Given the description of an element on the screen output the (x, y) to click on. 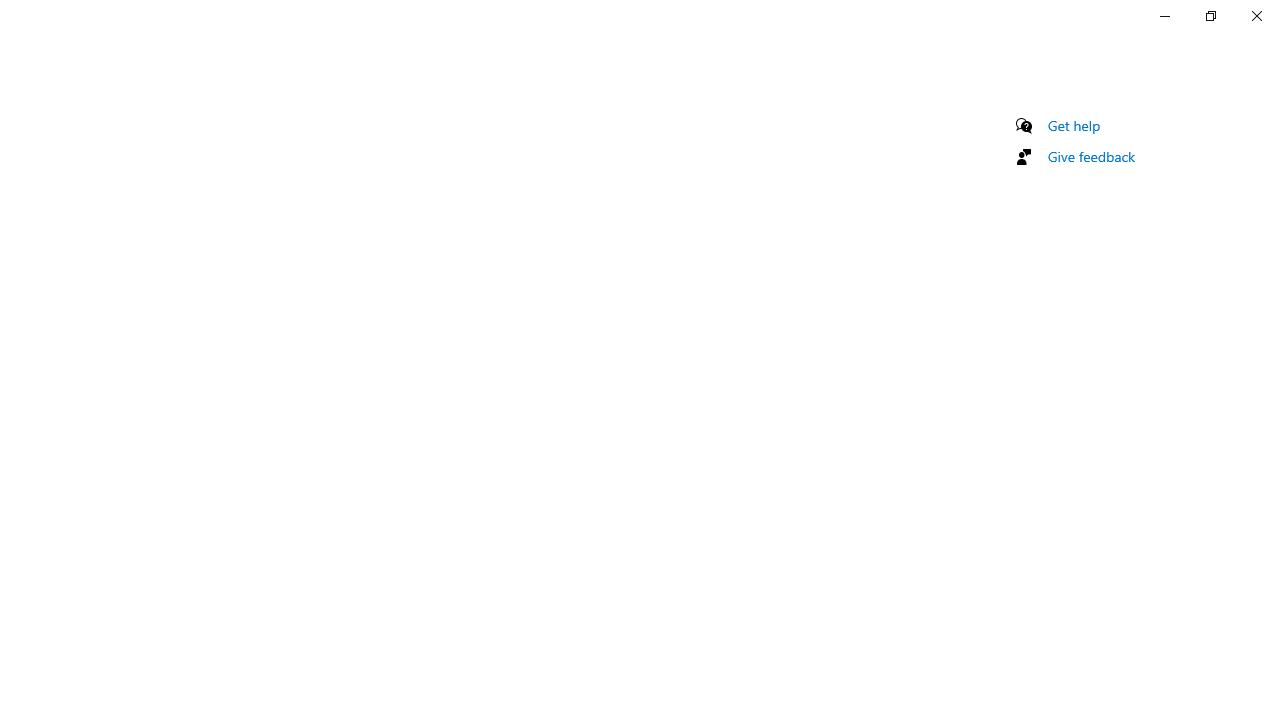
Restore Settings (1210, 15)
Close Settings (1256, 15)
Minimize Settings (1164, 15)
Get help (1074, 125)
Give feedback (1091, 156)
